Given the description of an element on the screen output the (x, y) to click on. 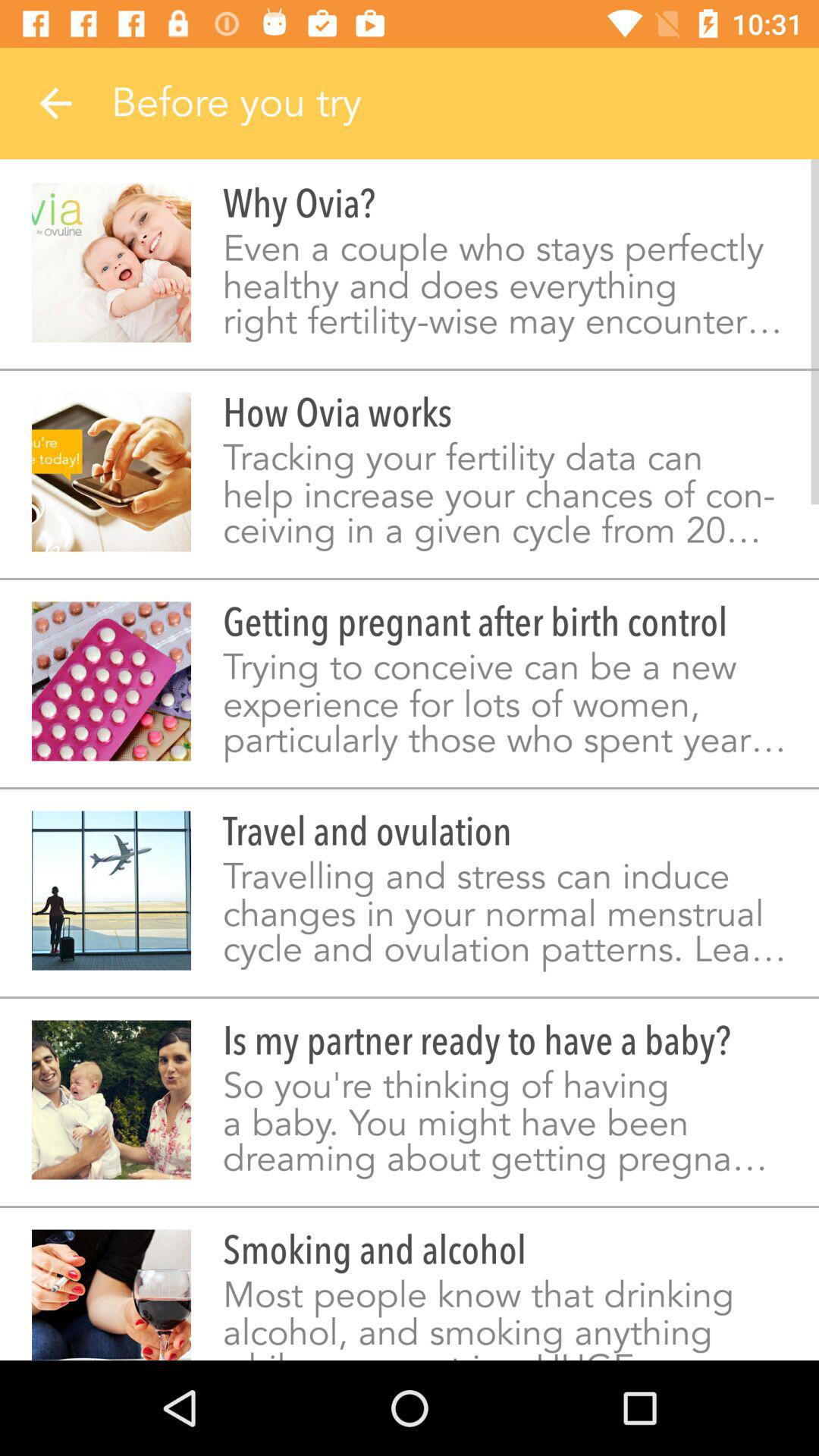
tap item next to the before you try icon (55, 103)
